Given the description of an element on the screen output the (x, y) to click on. 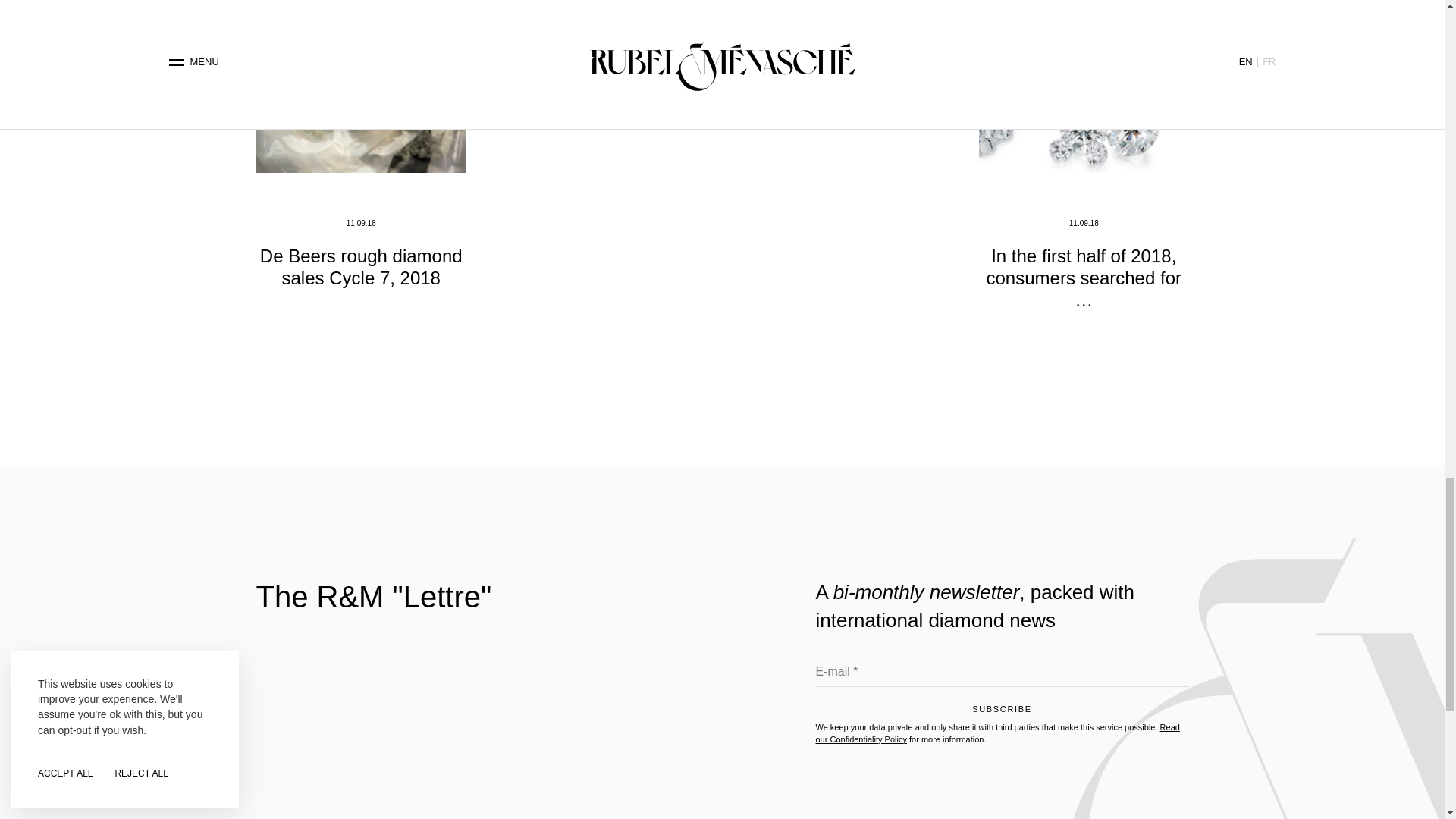
Subscribe (1002, 712)
Subscribe (1002, 712)
Read our Confidentiality Policy (997, 732)
E-mail (1002, 675)
De Beers rough diamond sales Cycle 7, 2018 (361, 266)
